Given the description of an element on the screen output the (x, y) to click on. 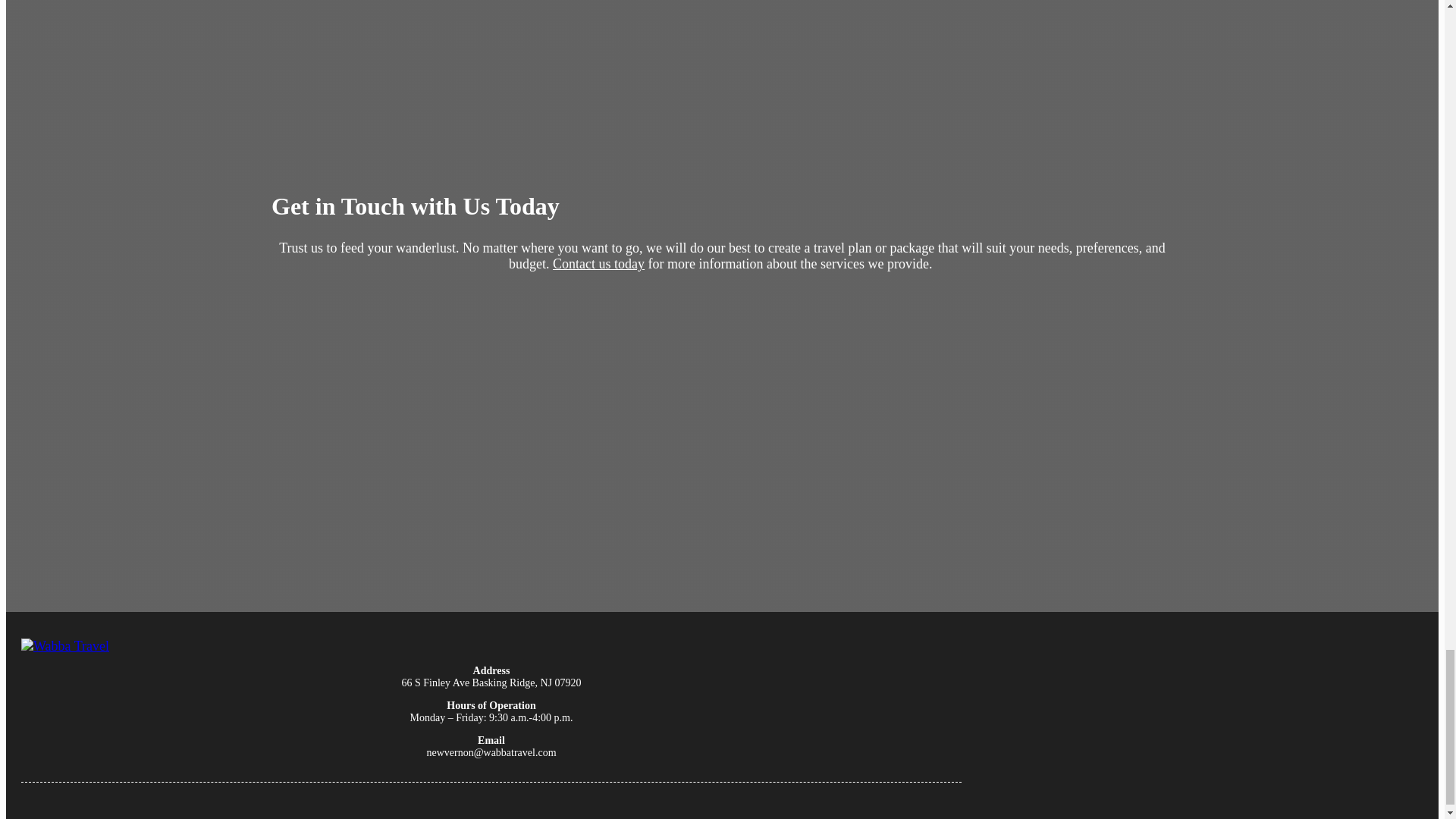
Contact us today (599, 263)
